Given the description of an element on the screen output the (x, y) to click on. 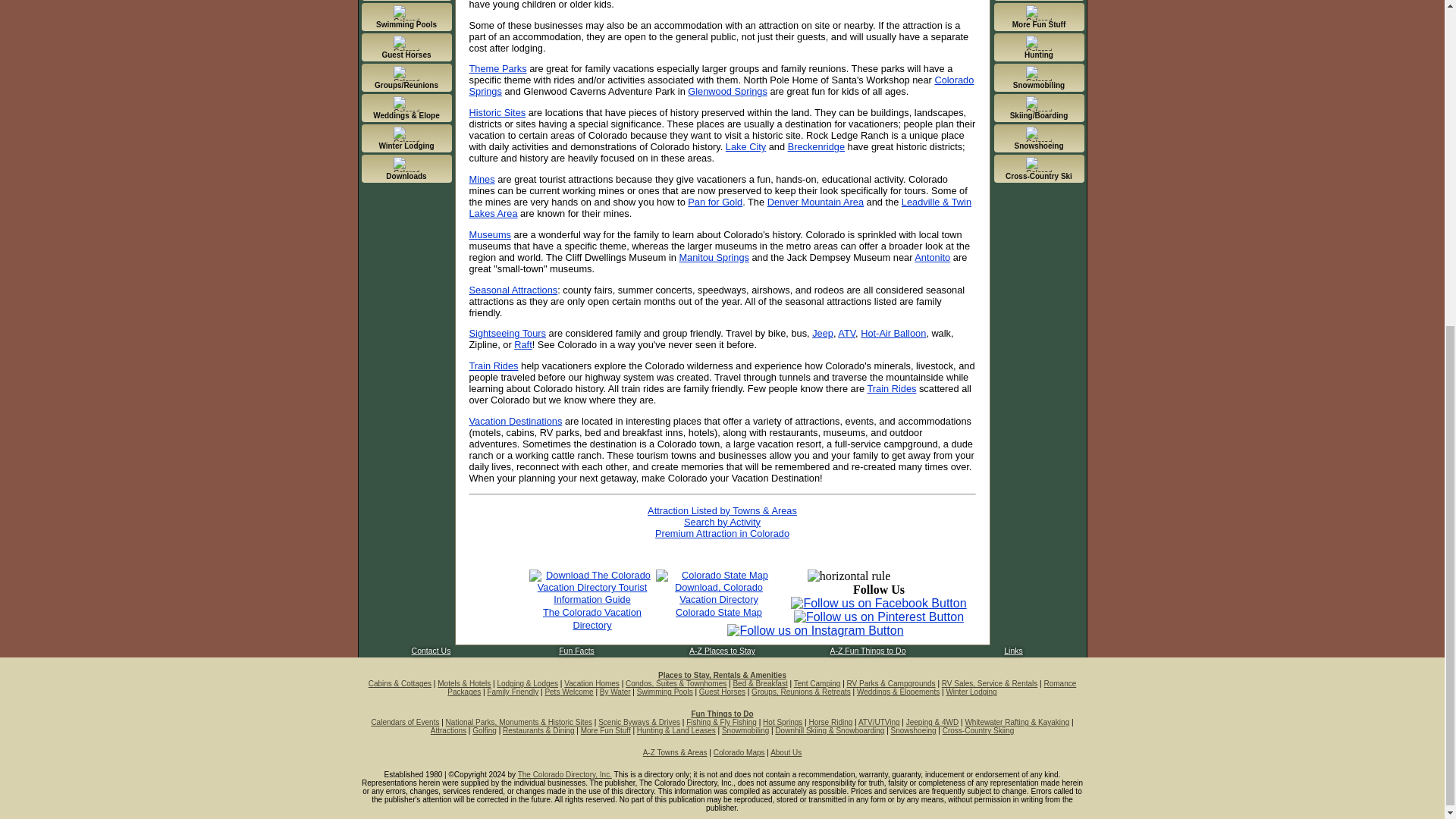
Raft (522, 344)
Vacation Destinations (515, 420)
Download The Colorado Vacation Directory (592, 618)
Seasonal Attractions (512, 289)
Follow us on Facebook (878, 603)
Train Rides (890, 388)
Hot-Air Balloon (893, 333)
Museums (489, 234)
Lake City (745, 146)
Glenwood Springs (727, 91)
